Given the description of an element on the screen output the (x, y) to click on. 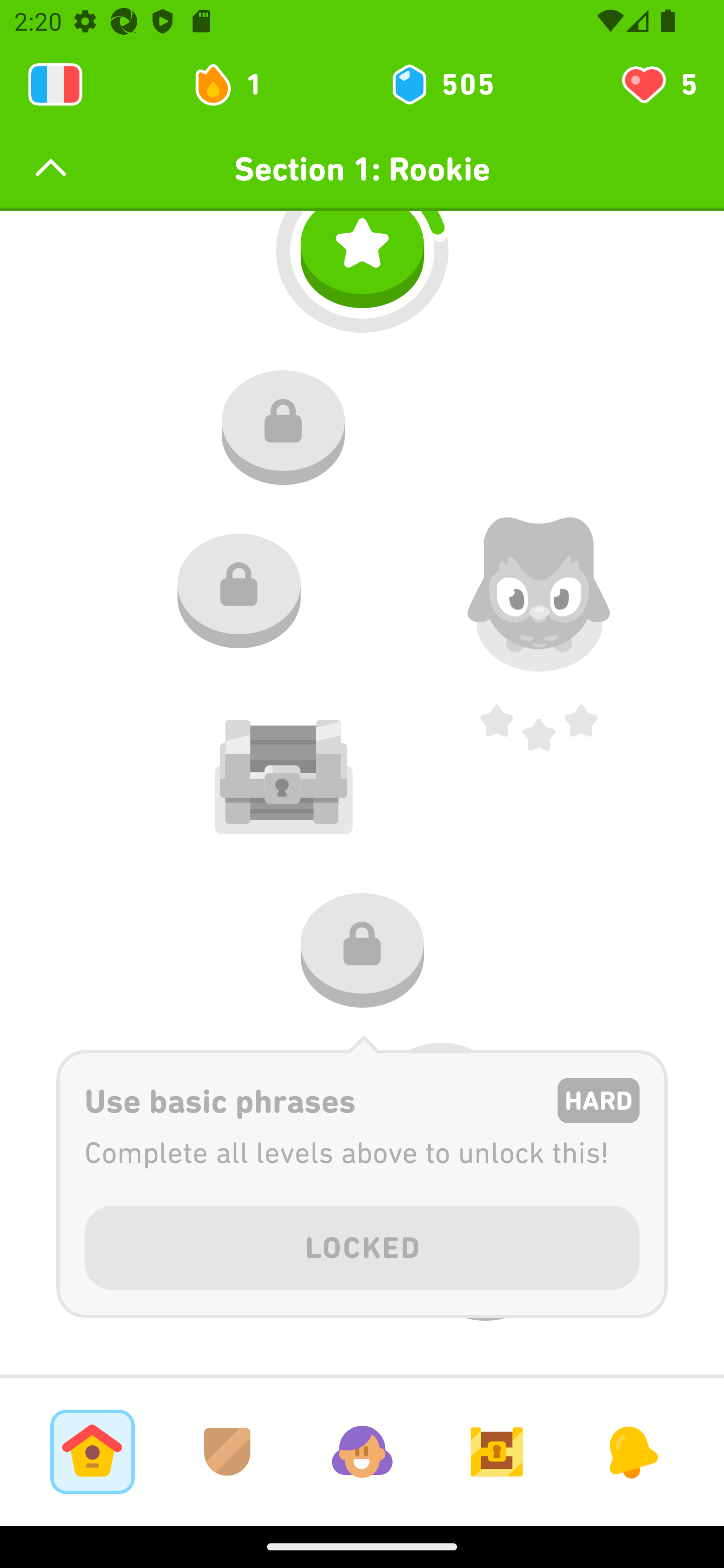
Learning 2131888976 (55, 84)
1 day streak 1 (236, 84)
505 (441, 84)
You have 5 hearts left 5 (657, 84)
Section 1: Rookie (362, 169)
LOCKED (361, 1243)
Learn Tab (91, 1451)
Leagues Tab (227, 1451)
Profile Tab (361, 1451)
Goals Tab (496, 1451)
News Tab (631, 1451)
